Given the description of an element on the screen output the (x, y) to click on. 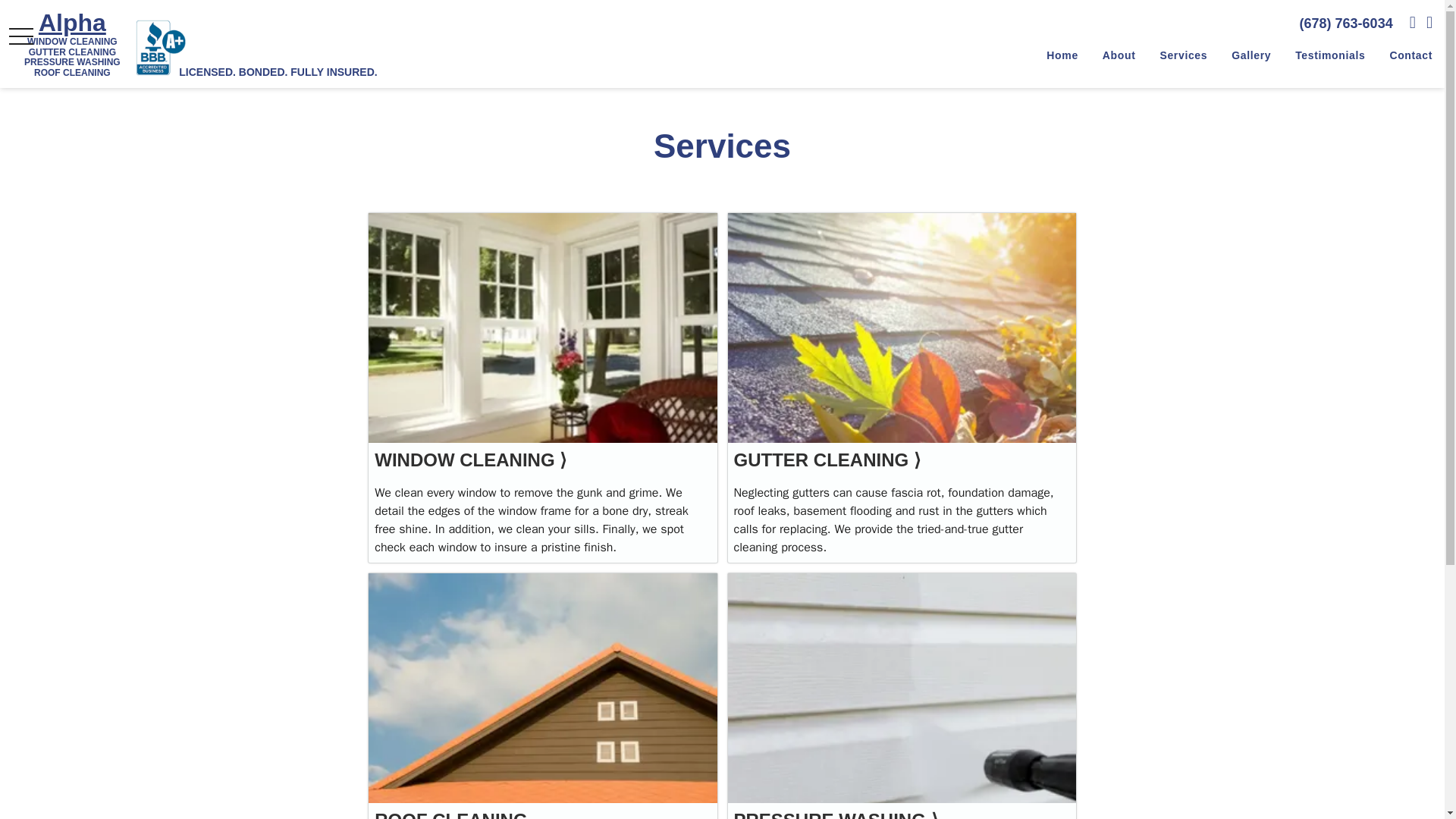
Home (1061, 56)
Testimonials (1330, 56)
toggle navigation (21, 36)
Contact (1410, 56)
About (1118, 56)
Gallery (1251, 56)
Services (1182, 56)
